Given the description of an element on the screen output the (x, y) to click on. 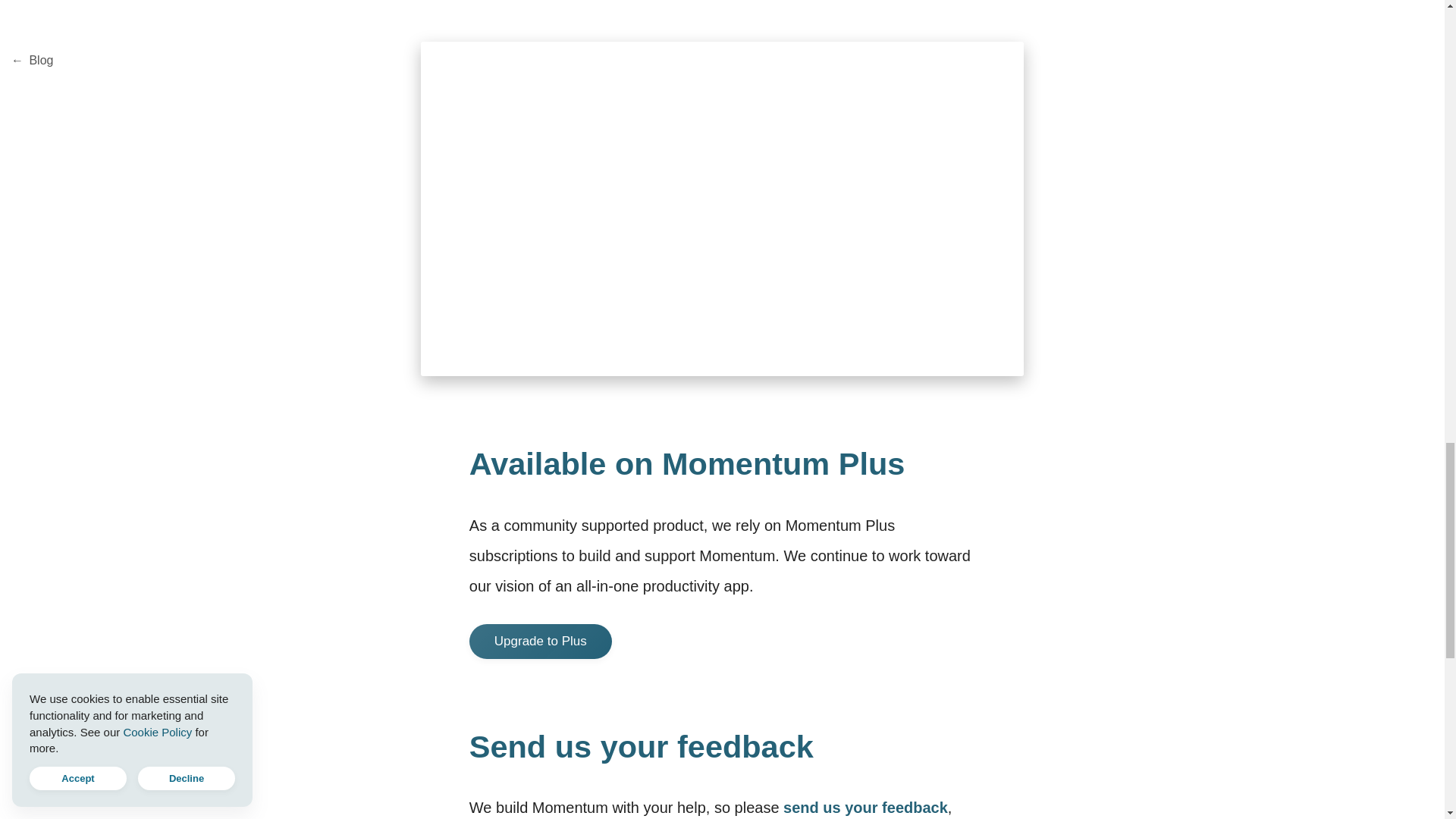
Upgrade to Plus (539, 641)
send us your feedback (865, 807)
